Given the description of an element on the screen output the (x, y) to click on. 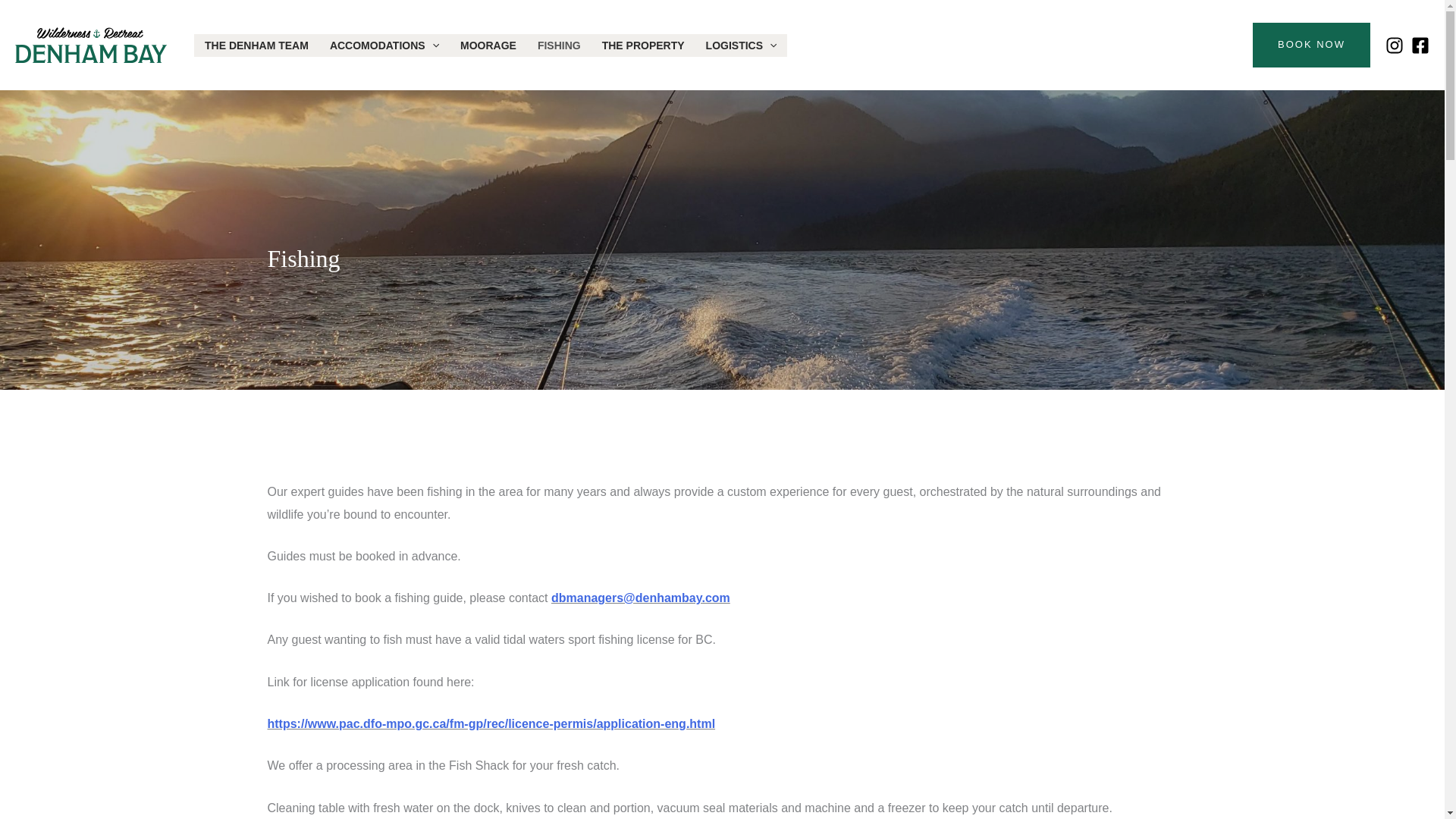
THE PROPERTY (643, 44)
MOORAGE (488, 44)
THE DENHAM TEAM (255, 44)
LOGISTICS (741, 44)
ACCOMODATIONS (383, 44)
BOOK NOW (1311, 44)
FISHING (559, 44)
